Given the description of an element on the screen output the (x, y) to click on. 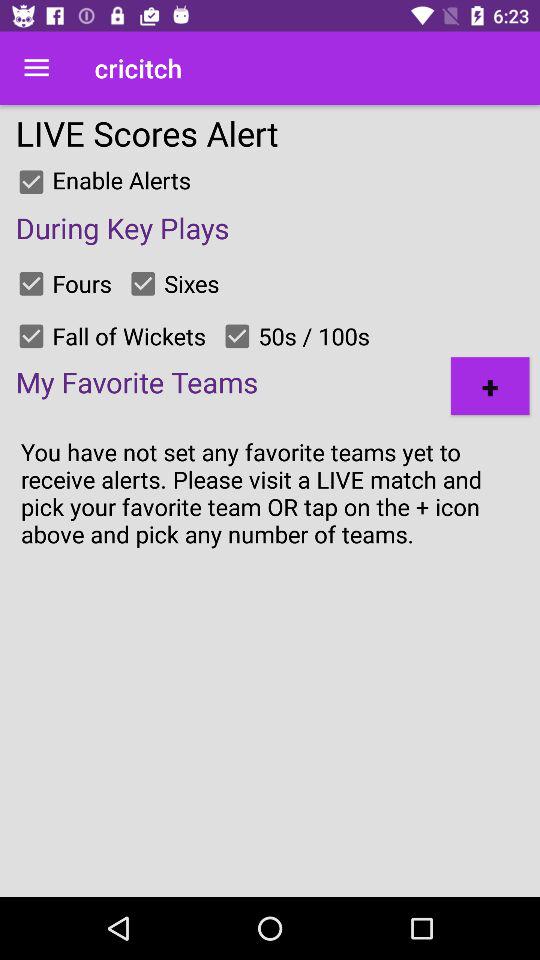
toggle alert option (31, 283)
